Given the description of an element on the screen output the (x, y) to click on. 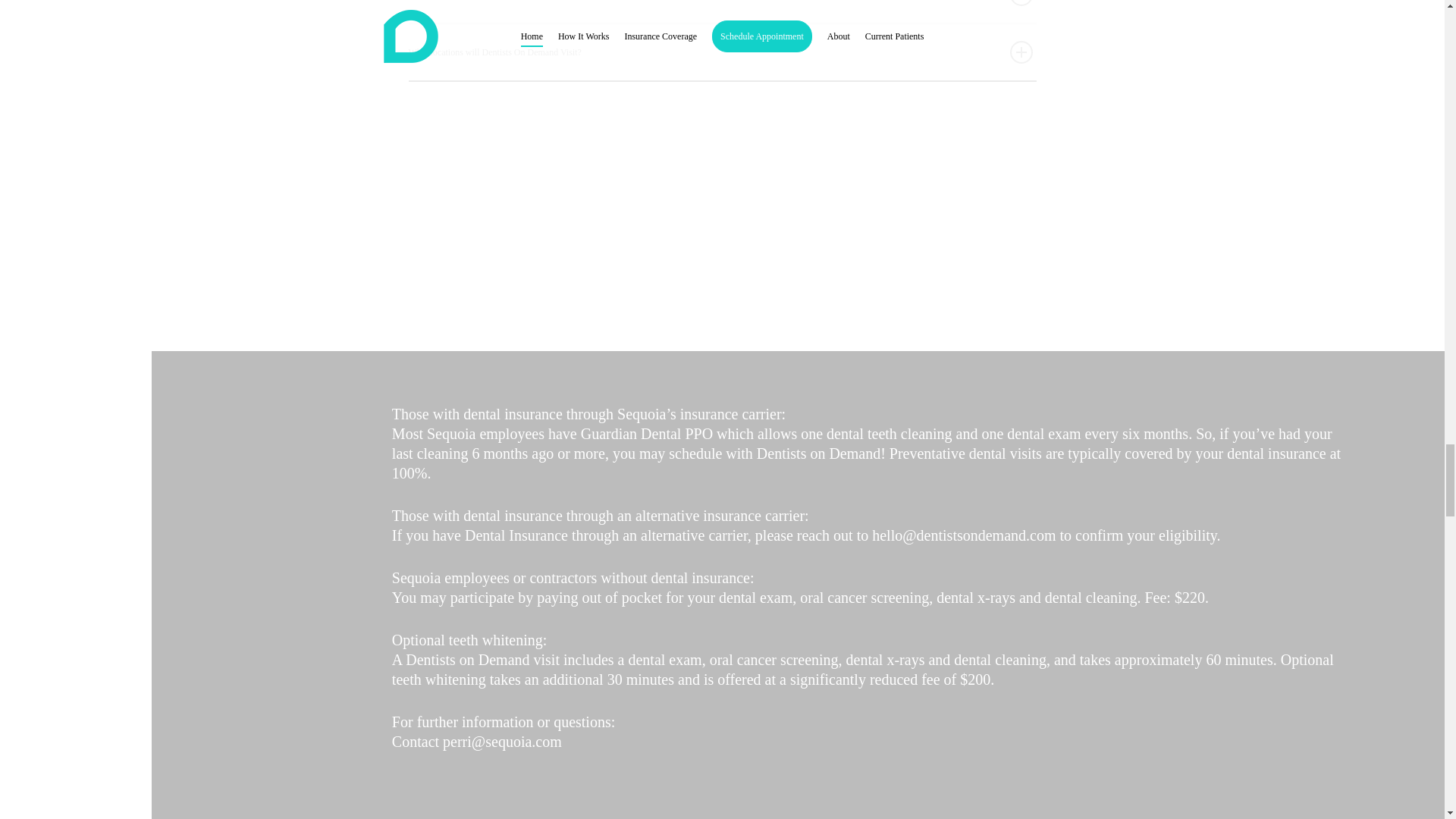
What locations will Dentists On Demand Visit? (721, 52)
